Given the description of an element on the screen output the (x, y) to click on. 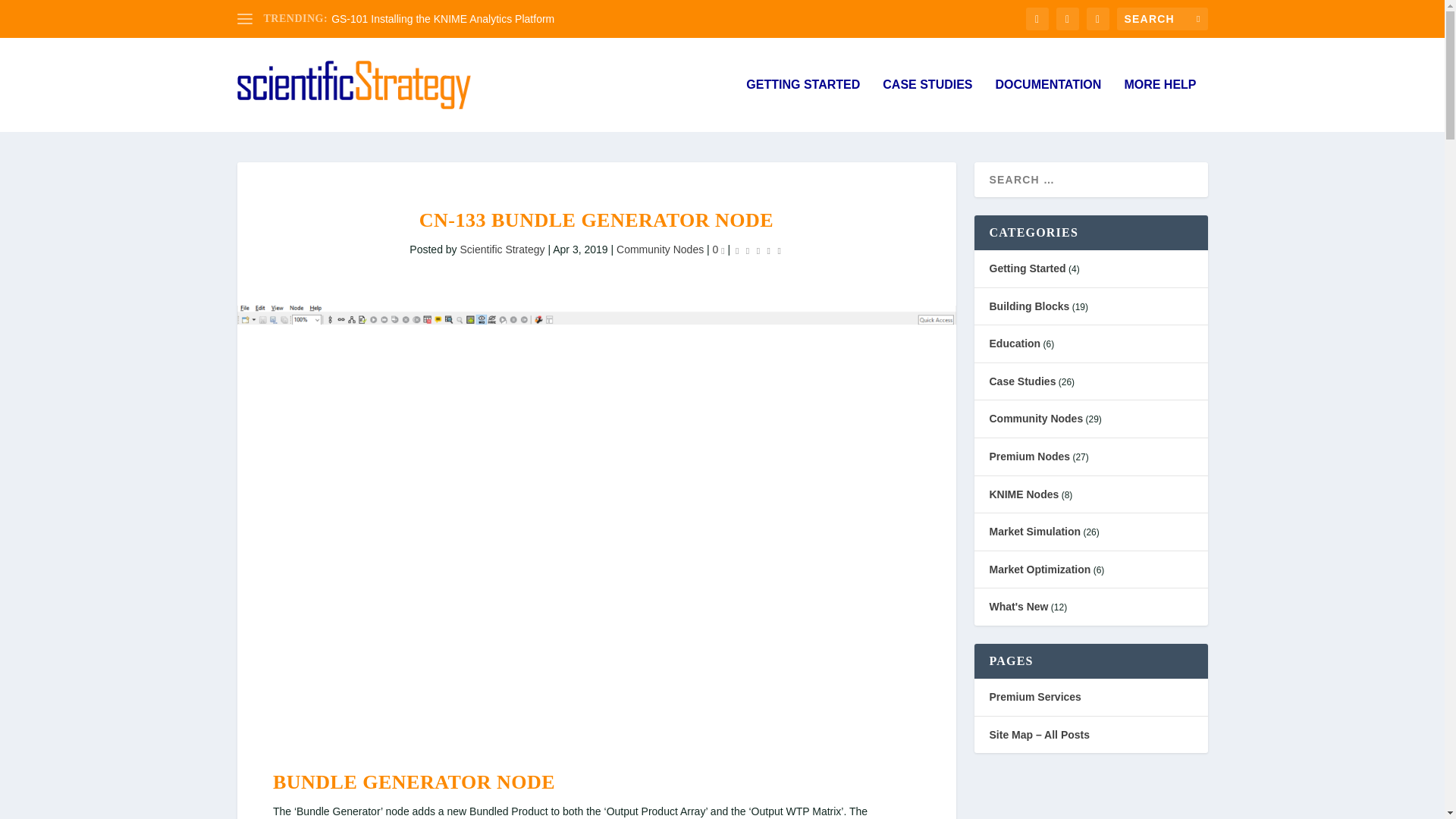
MORE HELP (1159, 104)
GETTING STARTED (802, 104)
Posts by Scientific Strategy (502, 249)
comment count (721, 251)
Rating: 0.00 (758, 250)
0 (719, 249)
Community Nodes (659, 249)
GS-101 Installing the KNIME Analytics Platform (442, 19)
CASE STUDIES (927, 104)
DOCUMENTATION (1048, 104)
Search for: (1161, 18)
Scientific Strategy (502, 249)
